Given the description of an element on the screen output the (x, y) to click on. 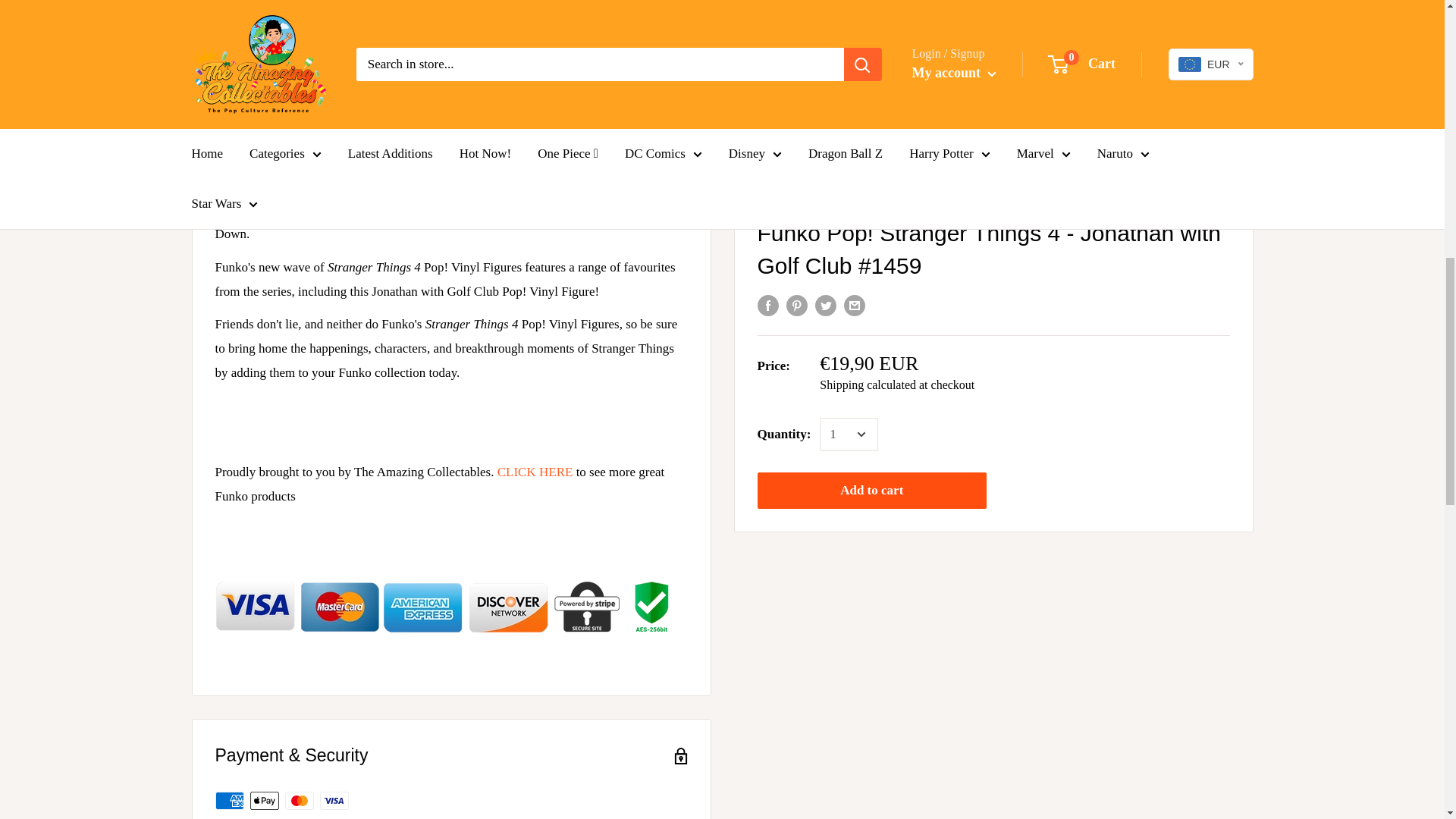
Funko Pop! Vinyl Figures (535, 472)
